Given the description of an element on the screen output the (x, y) to click on. 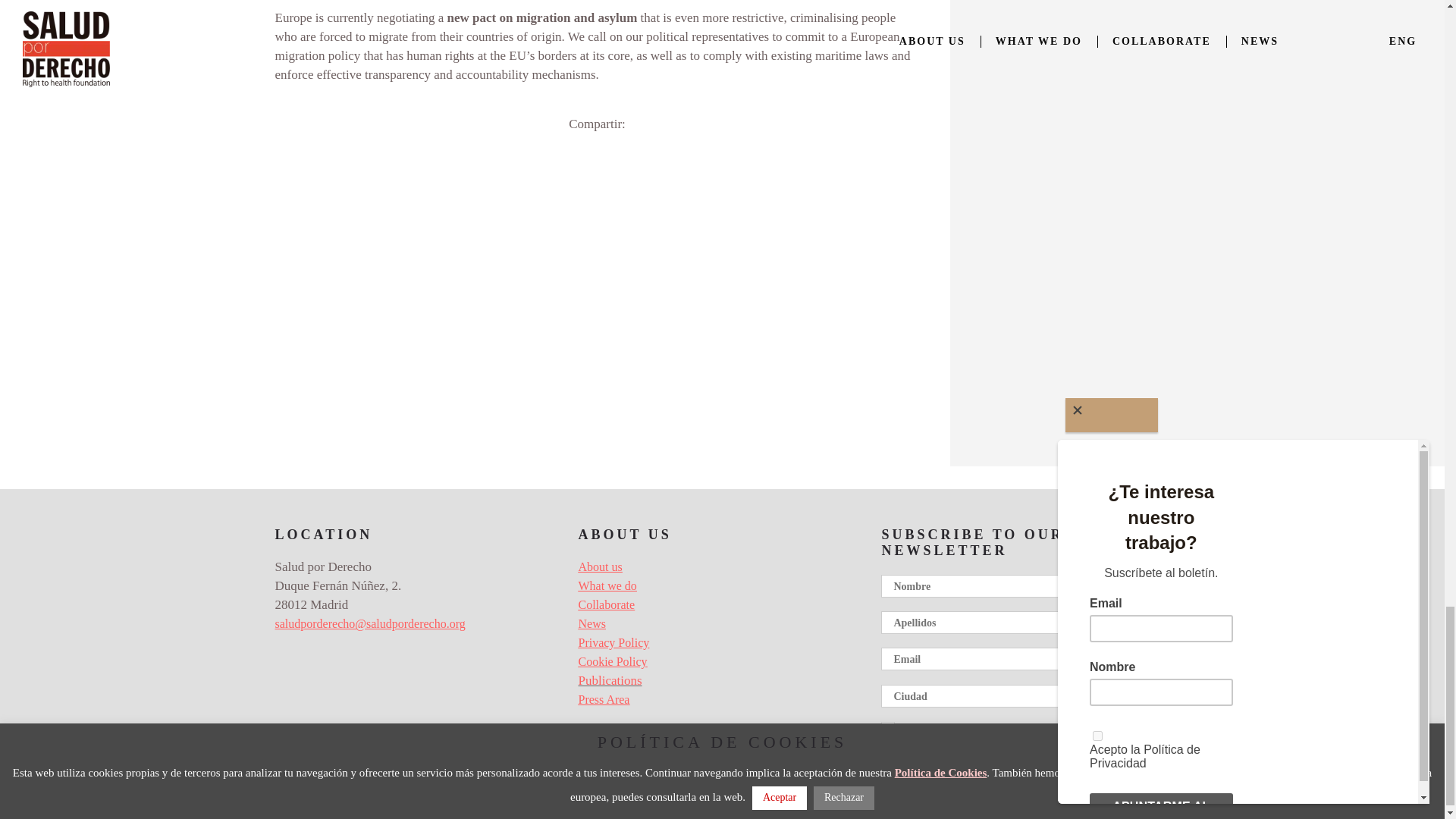
Press Area (603, 698)
Enviar (933, 770)
News (591, 623)
About us (599, 566)
1 (885, 728)
Cookie Policy (612, 661)
Privacy Policy (613, 642)
What we do (607, 585)
Enviar (933, 770)
Collaborate (606, 604)
Publications (610, 680)
